Given the description of an element on the screen output the (x, y) to click on. 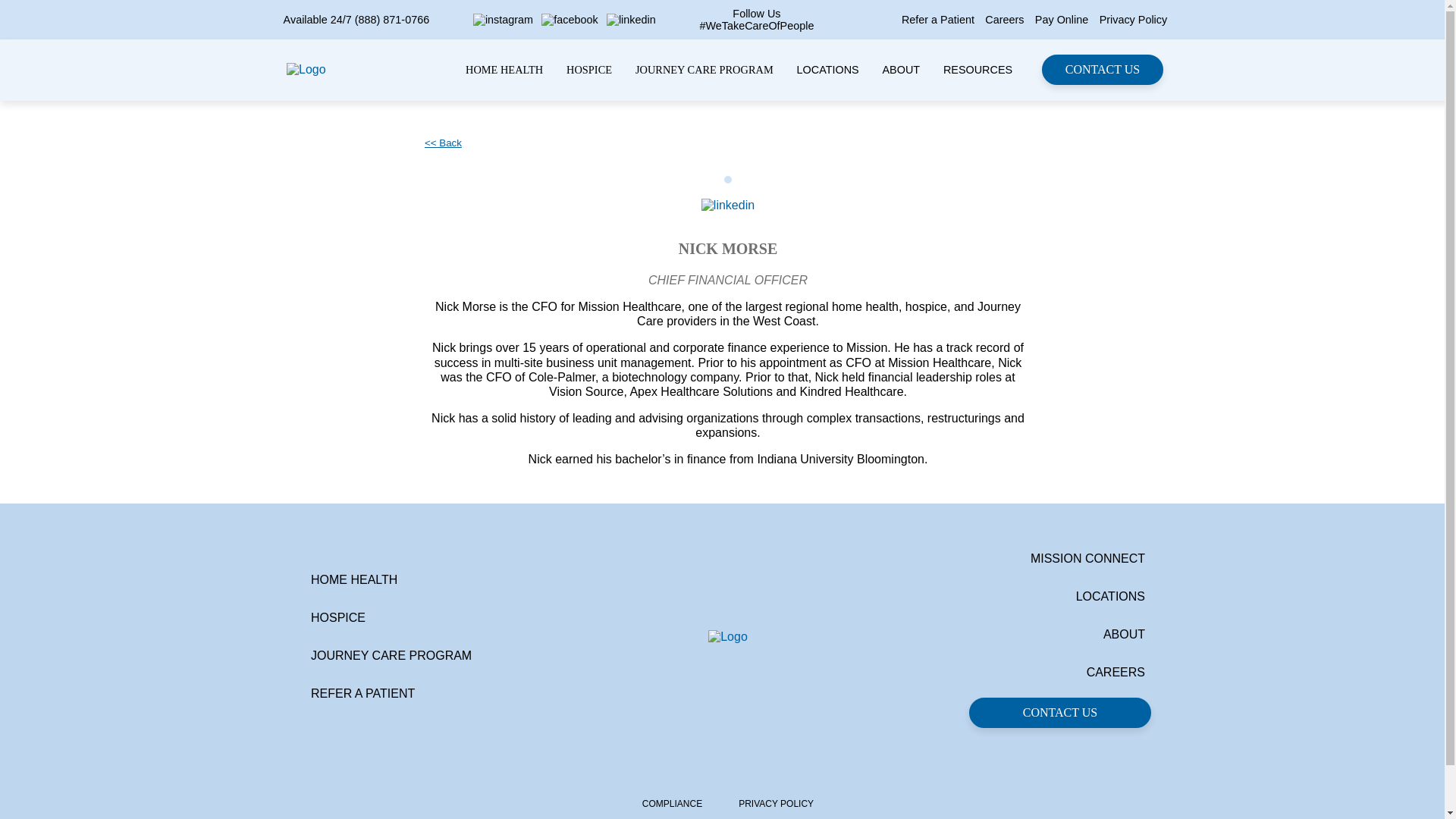
Refer a Patient (937, 19)
HOSPICE (588, 69)
JOURNEY CARE PROGRAM (703, 69)
RESOURCES (977, 69)
Pay Online (1061, 19)
HOME HEALTH (504, 69)
LOCATIONS (827, 69)
Privacy Policy (1133, 19)
ABOUT (901, 69)
CONTACT US (1102, 69)
Careers (1004, 19)
